Given the description of an element on the screen output the (x, y) to click on. 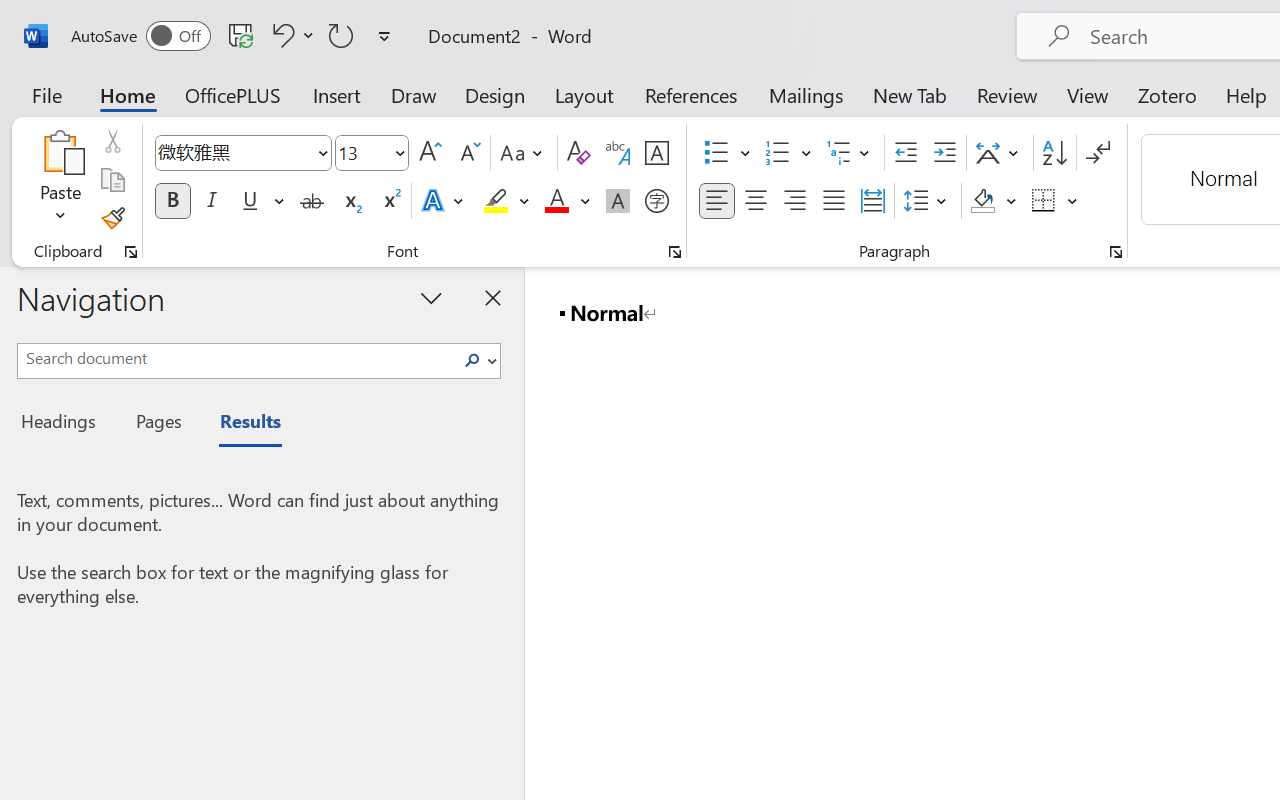
Search (471, 360)
Font... (675, 252)
Subscript (350, 201)
Decrease Indent (906, 153)
Office Clipboard... (131, 252)
Pages (156, 424)
File Tab (46, 94)
Italic (212, 201)
Quick Access Toolbar (233, 36)
Class: NetUIImage (471, 360)
Enclose Characters... (656, 201)
Text Effects and Typography (444, 201)
Font (234, 152)
Bullets (716, 153)
AutoSave (140, 35)
